Given the description of an element on the screen output the (x, y) to click on. 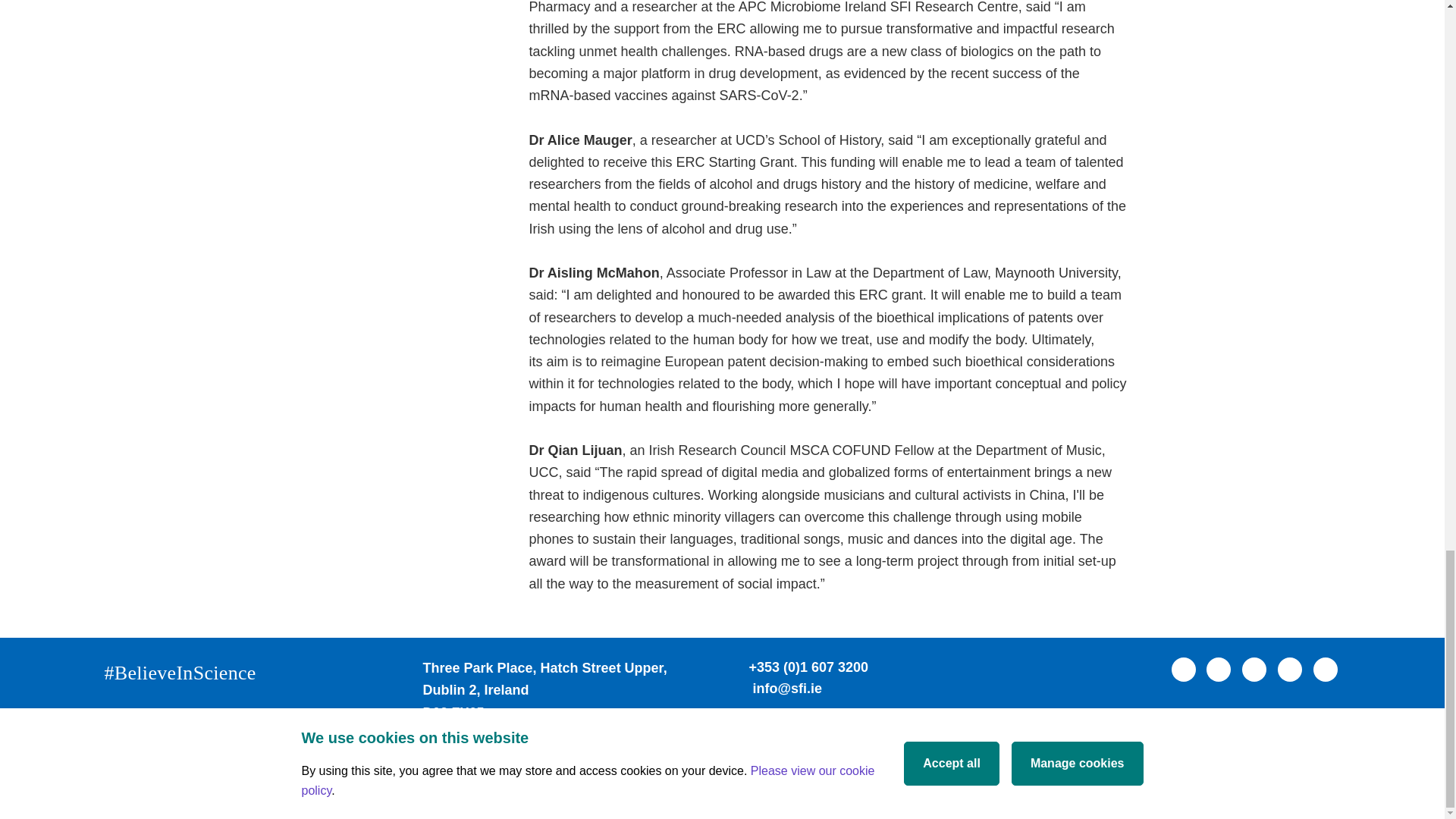
Visit SFI on LinkedIn (1253, 669)
Visit SFI on Facebook (1183, 669)
Visit SFI on YouTube (1289, 669)
Visit SFI on Instagram (1325, 669)
Visit SFI on Twitter (1218, 669)
